Given the description of an element on the screen output the (x, y) to click on. 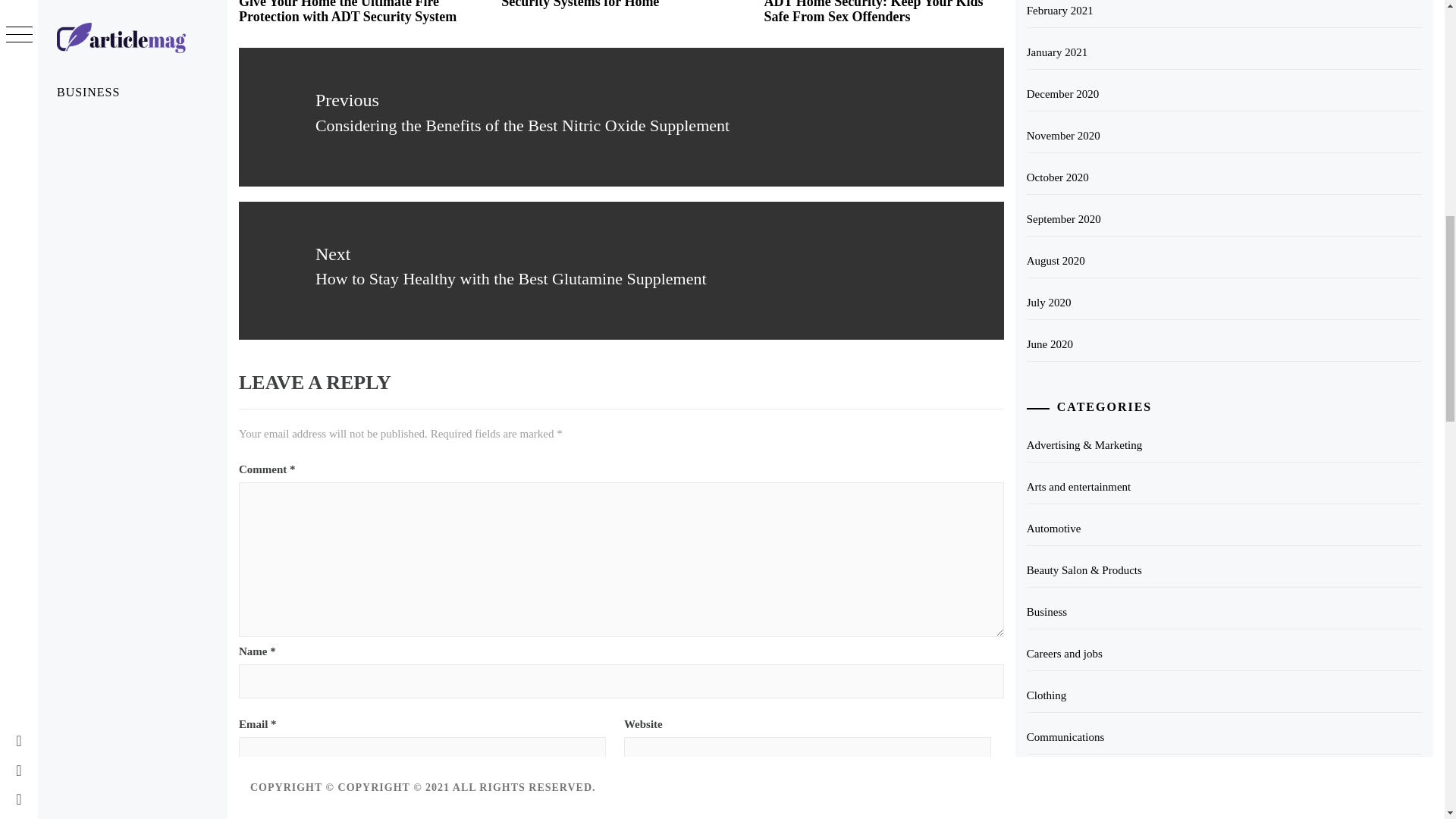
December 2020 (1224, 93)
ADT Home Security: Keep Your Kids Safe From Sex Offenders (872, 12)
Security Systems for Home (579, 4)
January 2021 (1224, 52)
February 2021 (1224, 13)
yes (621, 805)
November 2020 (1224, 135)
